Given the description of an element on the screen output the (x, y) to click on. 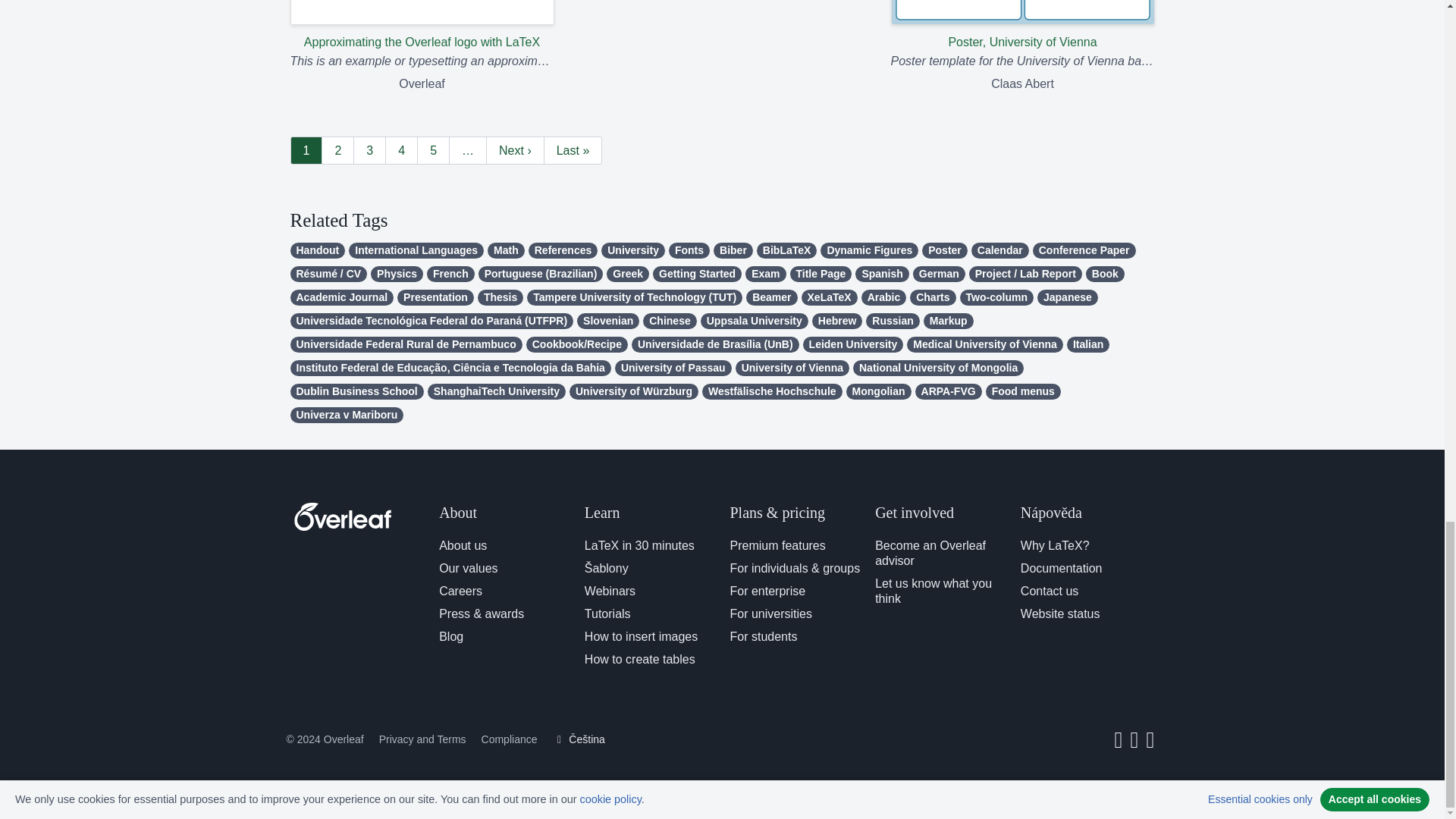
International Languages (416, 250)
Poster, University of Vienna (1021, 25)
Approximating the Overleaf logo with LaTeX (421, 25)
5 (432, 150)
3 (369, 150)
4 (401, 150)
2 (337, 150)
Handout (317, 250)
Math (505, 250)
